Given the description of an element on the screen output the (x, y) to click on. 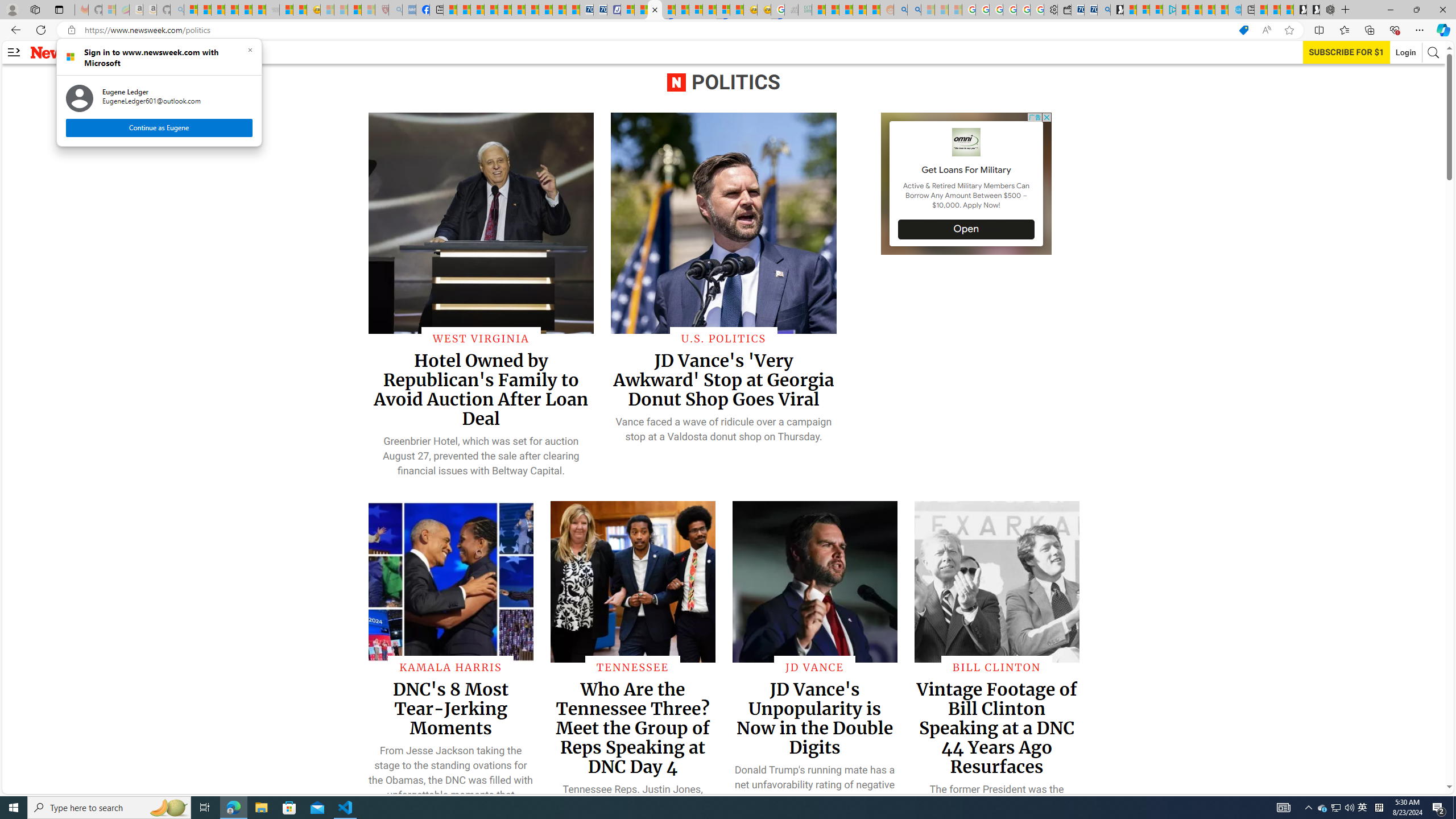
File Explorer (261, 807)
DNC's 8 Most Tear-Jerking Moments (451, 708)
Login (1405, 51)
Continue as Eugene (1335, 807)
Show desktop (158, 127)
The Weather Channel - MSN (1454, 807)
